Given the description of an element on the screen output the (x, y) to click on. 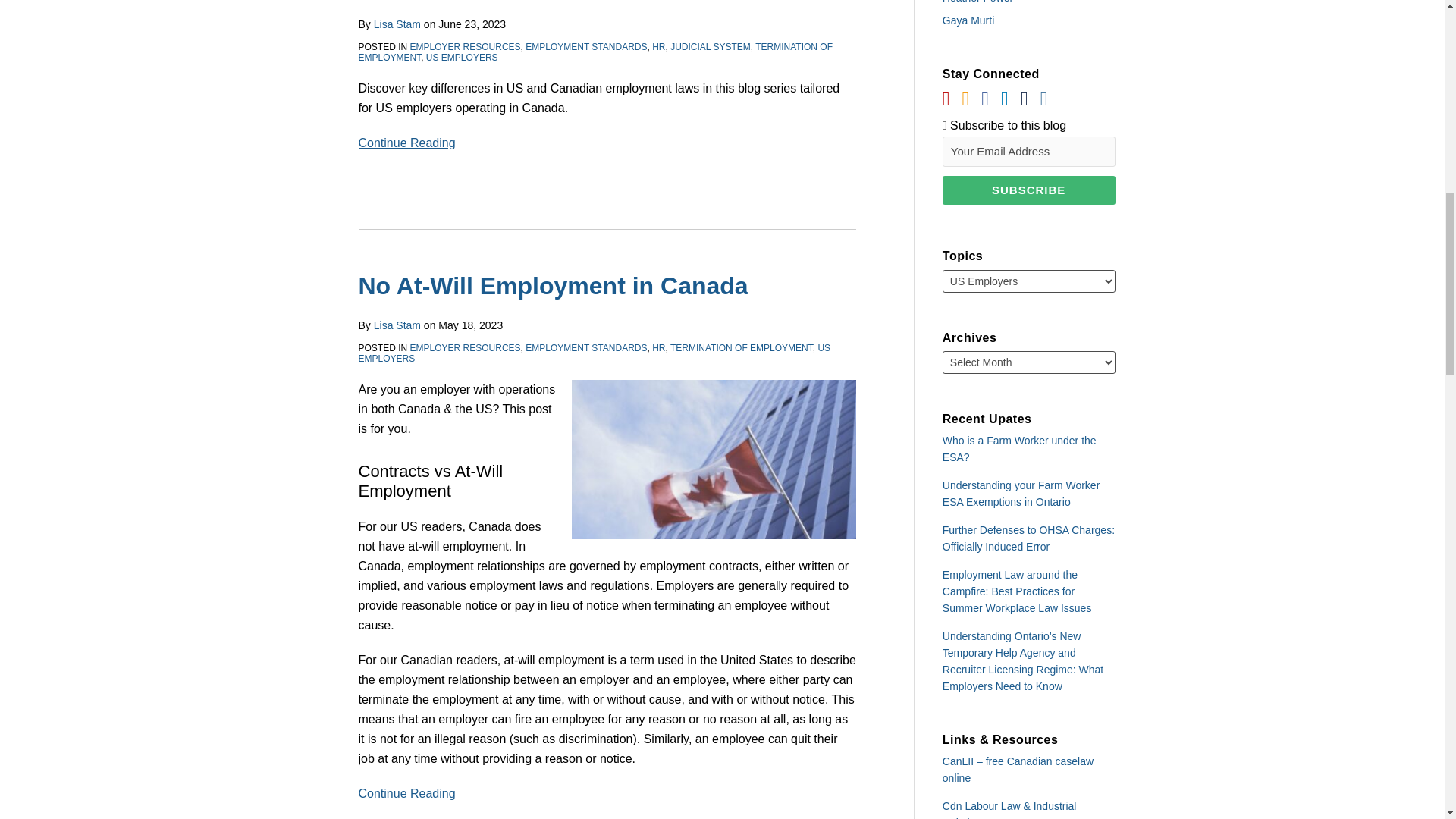
US EMPLOYERS (593, 353)
canlii-free-canadian-caselaw-online (1017, 769)
EMPLOYMENT STANDARDS (585, 46)
HR (658, 347)
US EMPLOYERS (461, 57)
TERMINATION OF EMPLOYMENT (594, 52)
Lisa Stam (397, 325)
EMPLOYER RESOURCES (465, 46)
cdn-labour-law-industrial-relations (607, 793)
